Given the description of an element on the screen output the (x, y) to click on. 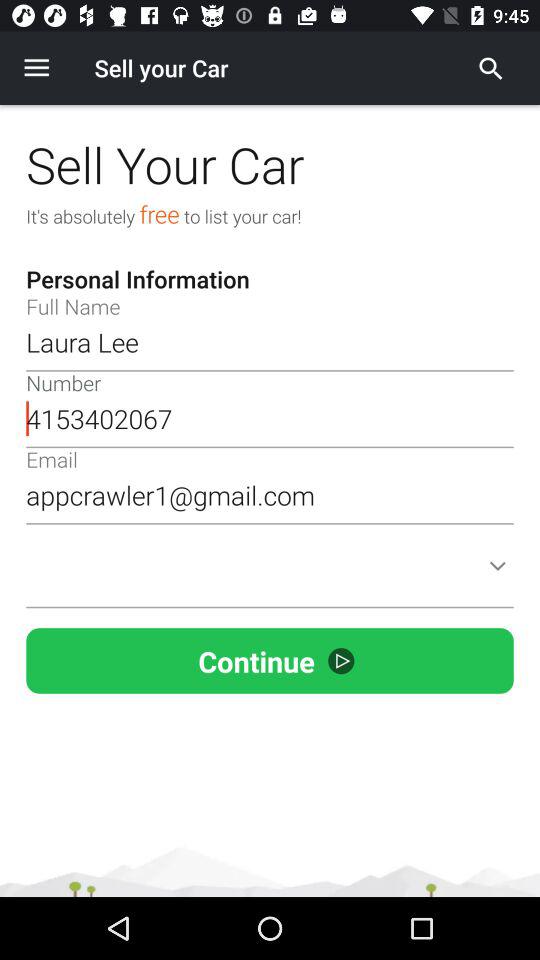
search button (491, 68)
